Given the description of an element on the screen output the (x, y) to click on. 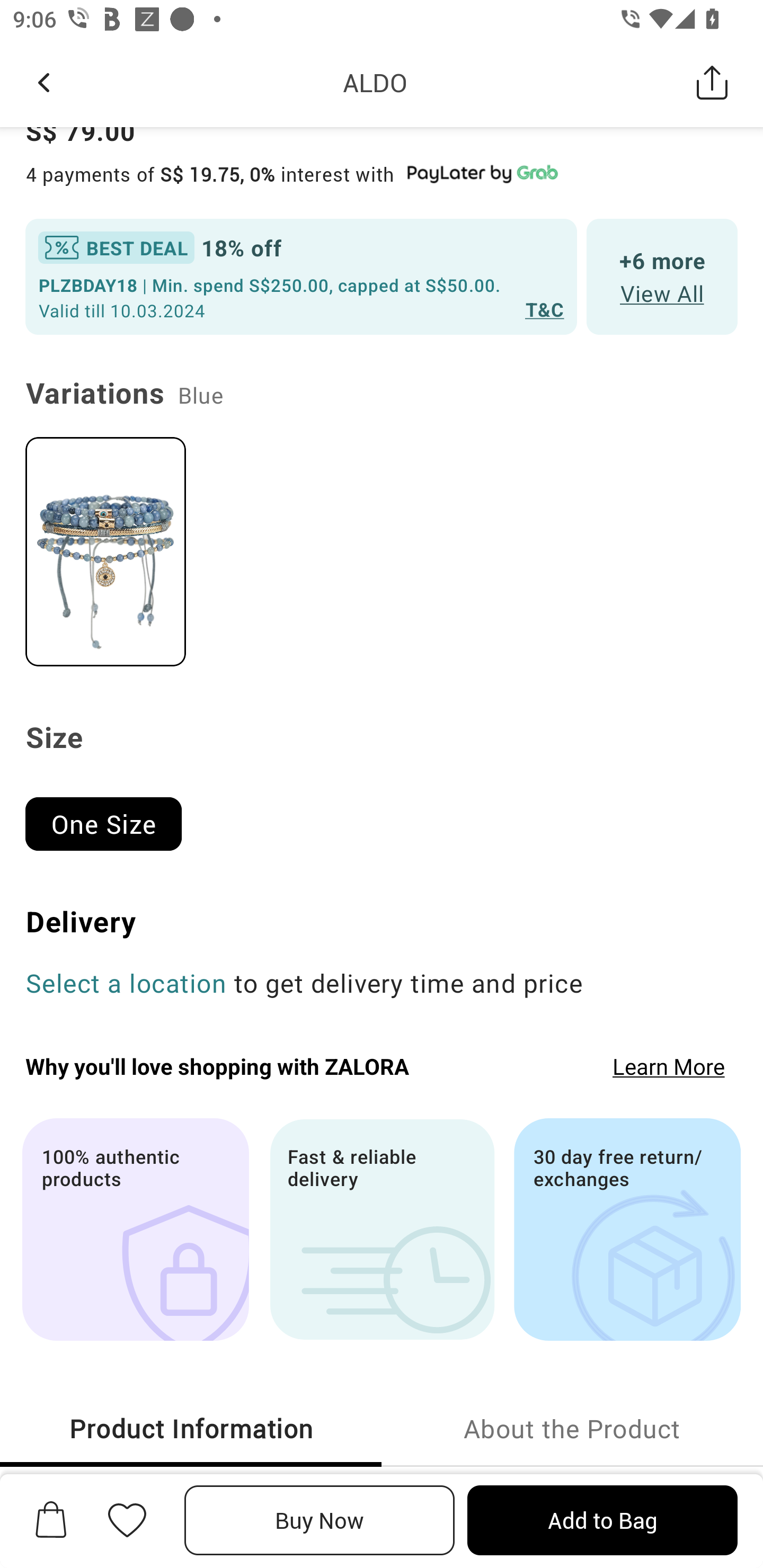
ALDO (375, 82)
Share this Product (711, 82)
+6 more
View All (661, 277)
T&C (544, 308)
One Size (111, 815)
Learn More (668, 1065)
100% authentic products (135, 1229)
Fast & reliable delivery (381, 1229)
30 day free return/exchanges (627, 1229)
About the Product (572, 1428)
Buy Now (319, 1519)
Add to Bag (601, 1519)
